Given the description of an element on the screen output the (x, y) to click on. 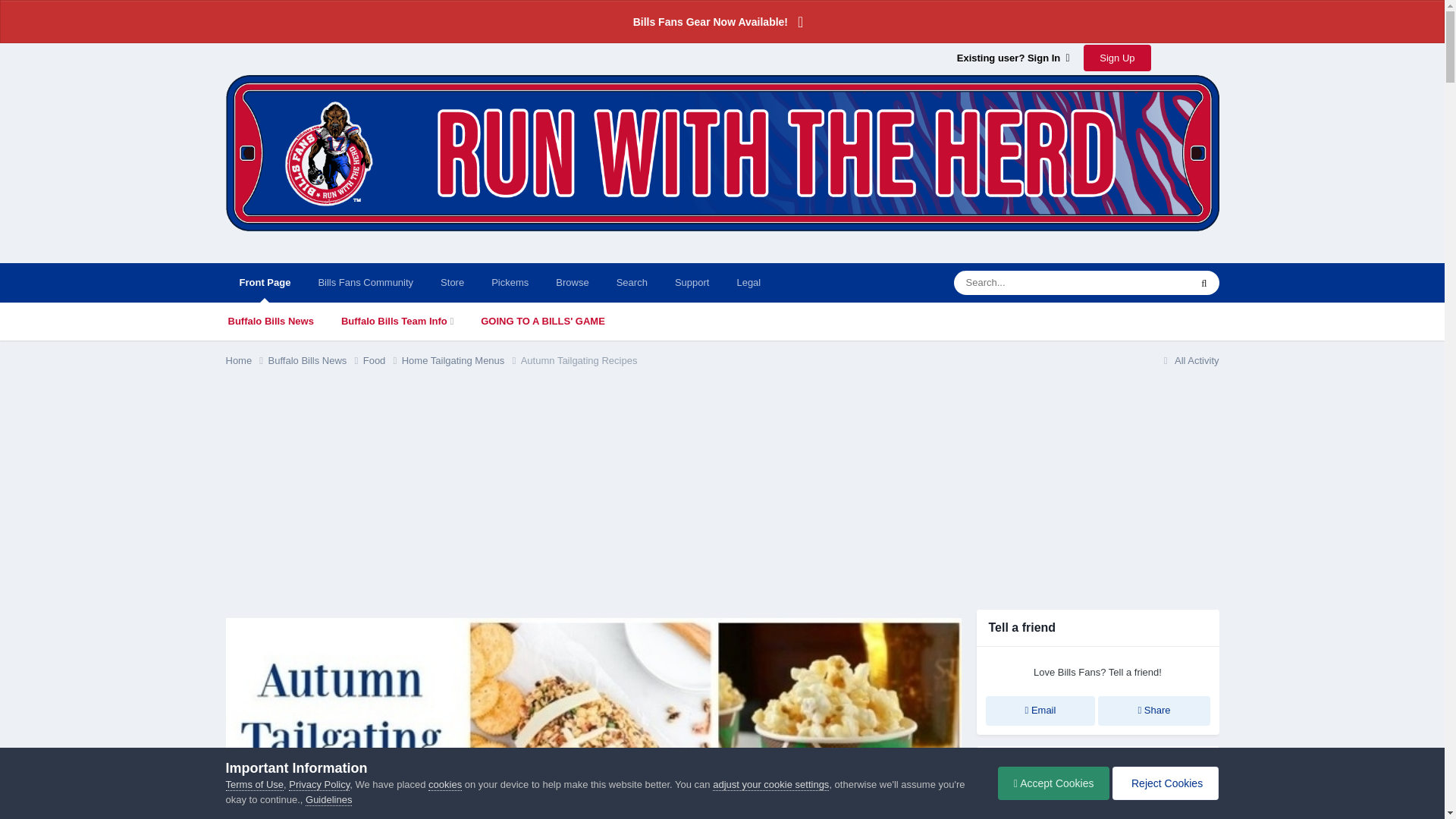
Front Page (264, 282)
Store (451, 282)
Search (631, 282)
Buffalo Bills News (270, 321)
Existing user? Sign In   (1013, 57)
Buffalo Bills Team Info (397, 321)
Browse (571, 282)
GOING TO A BILLS' GAME (542, 321)
Pickems (509, 282)
Bills Fans Gear Now Available! (722, 21)
